Given the description of an element on the screen output the (x, y) to click on. 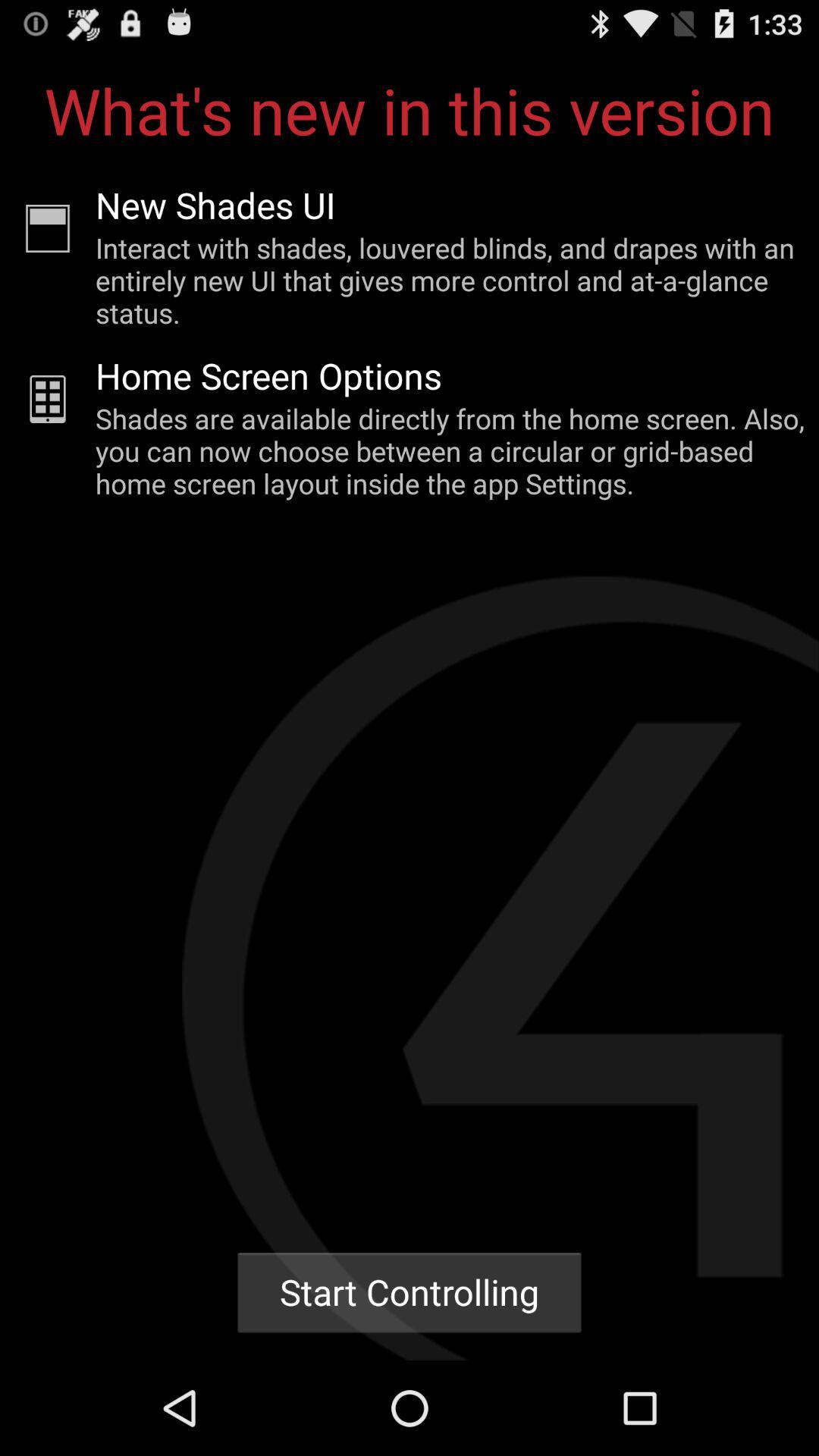
select the item at the bottom (409, 1292)
